Given the description of an element on the screen output the (x, y) to click on. 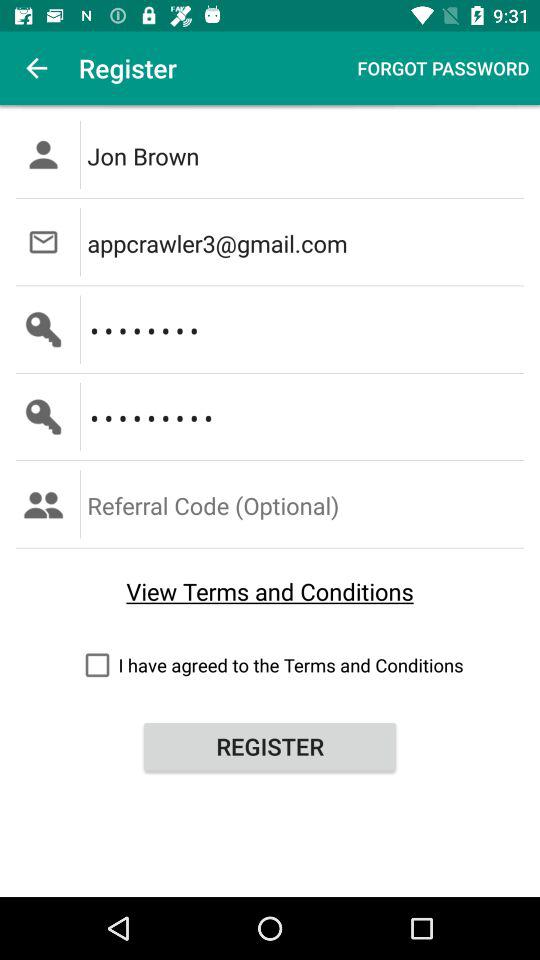
flip until crowd316 (306, 329)
